Given the description of an element on the screen output the (x, y) to click on. 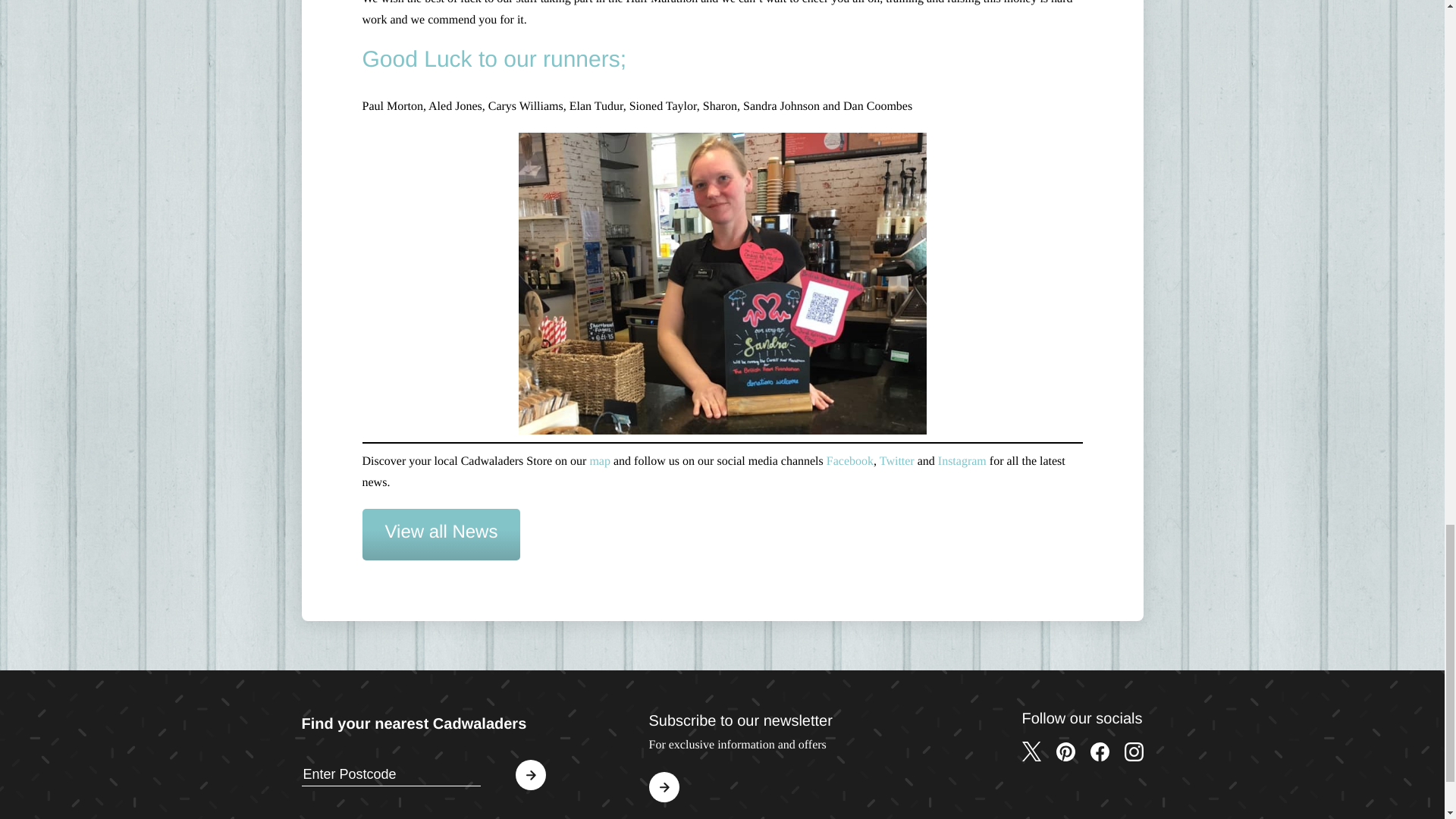
map (599, 461)
Facebook (850, 461)
View all News (441, 534)
Twitter (896, 461)
View all News (441, 534)
Instagram (962, 461)
